Given the description of an element on the screen output the (x, y) to click on. 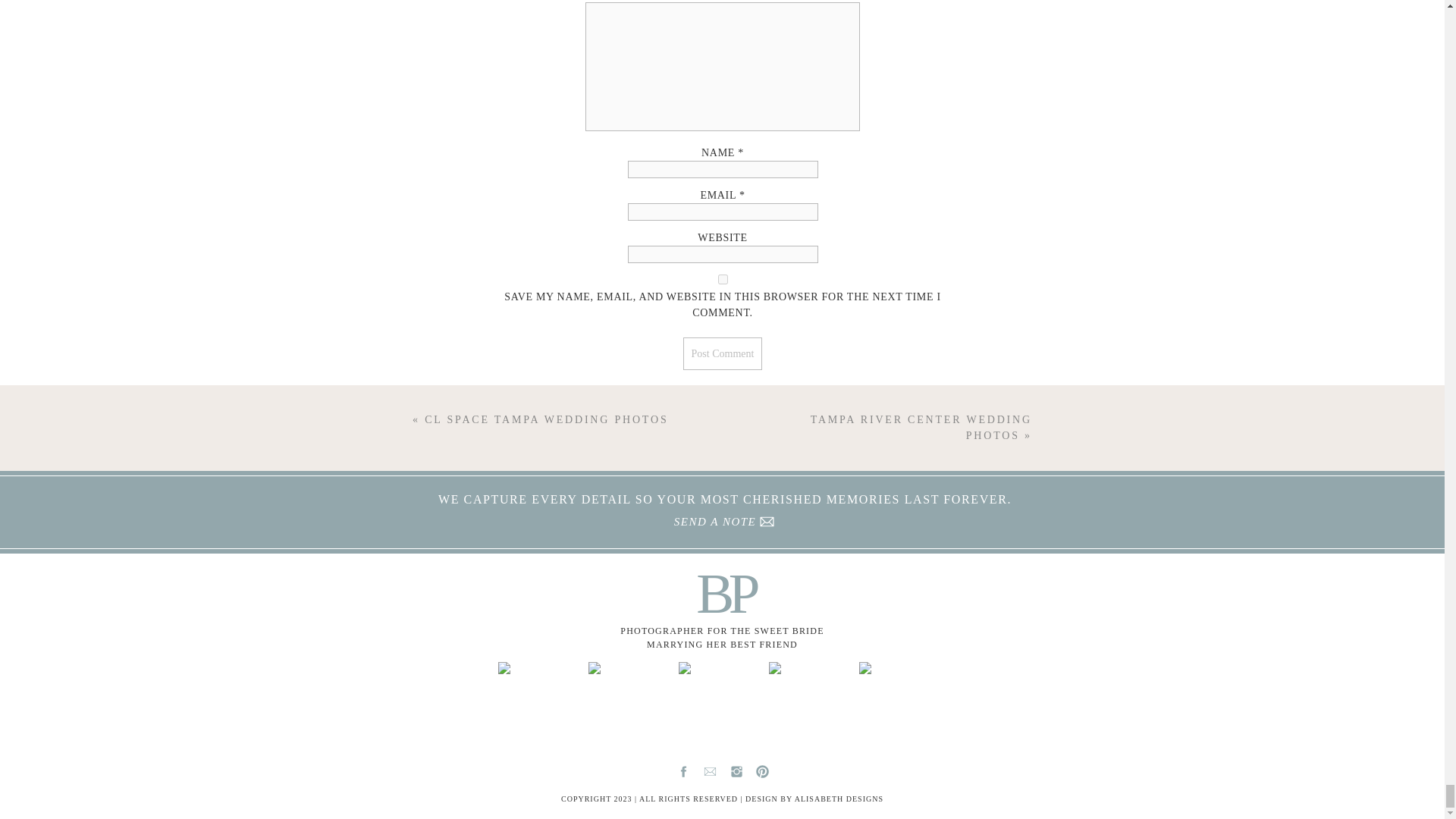
CL SPACE TAMPA WEDDING PHOTOS (546, 419)
TAMPA RIVER CENTER WEDDING PHOTOS (921, 427)
yes (722, 279)
Post Comment (722, 353)
SEND A NOTE (715, 521)
Post Comment (722, 353)
